Given the description of an element on the screen output the (x, y) to click on. 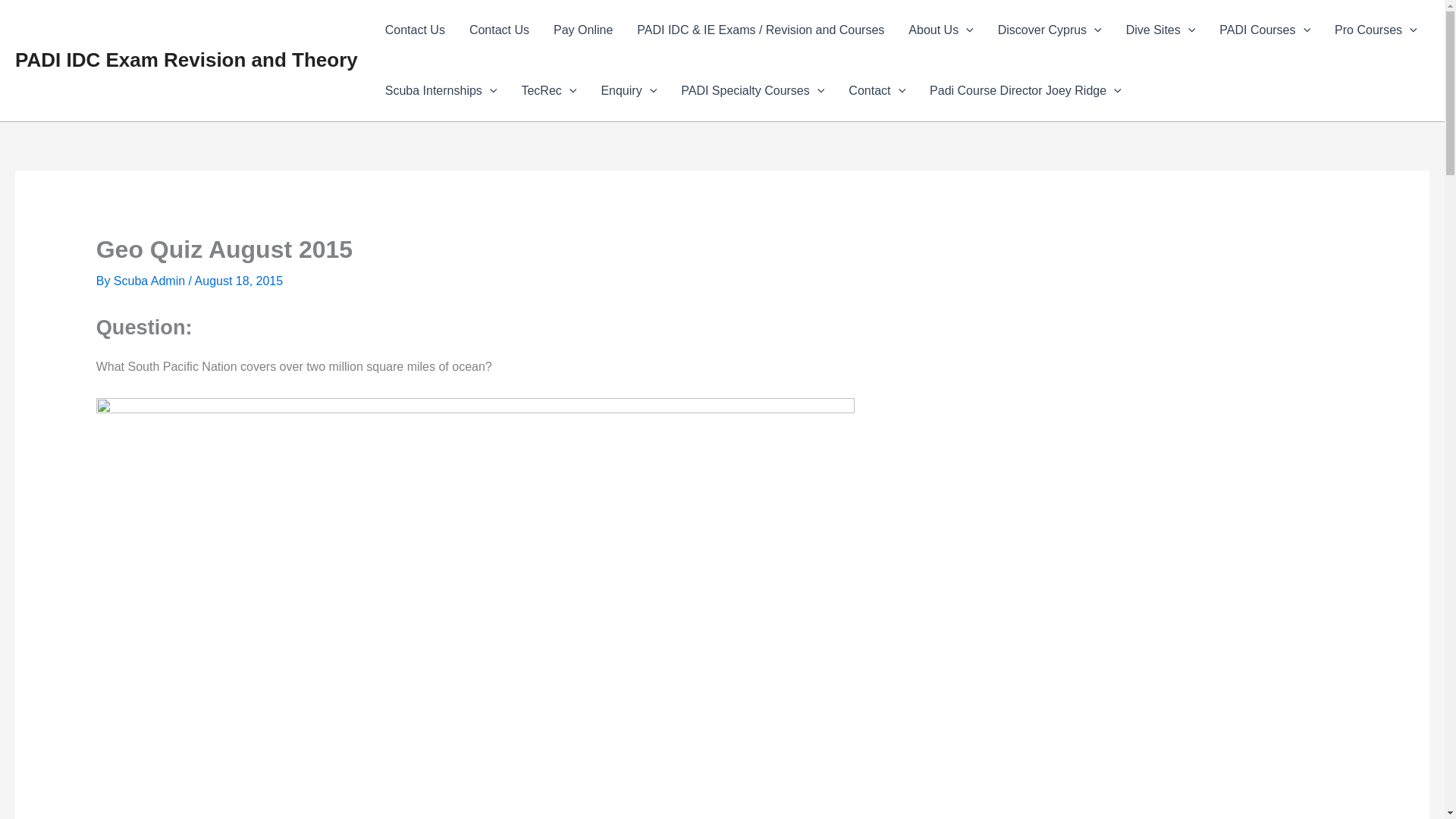
Discover Cyprus (1049, 30)
PADI IDC Exam Revision and Theory (186, 59)
Contact Us (414, 30)
PADI Courses (1264, 30)
About Us (940, 30)
View all posts by Scuba Admin (151, 280)
Dive Sites (1160, 30)
Pay Online (582, 30)
Contact Us (499, 30)
